Given the description of an element on the screen output the (x, y) to click on. 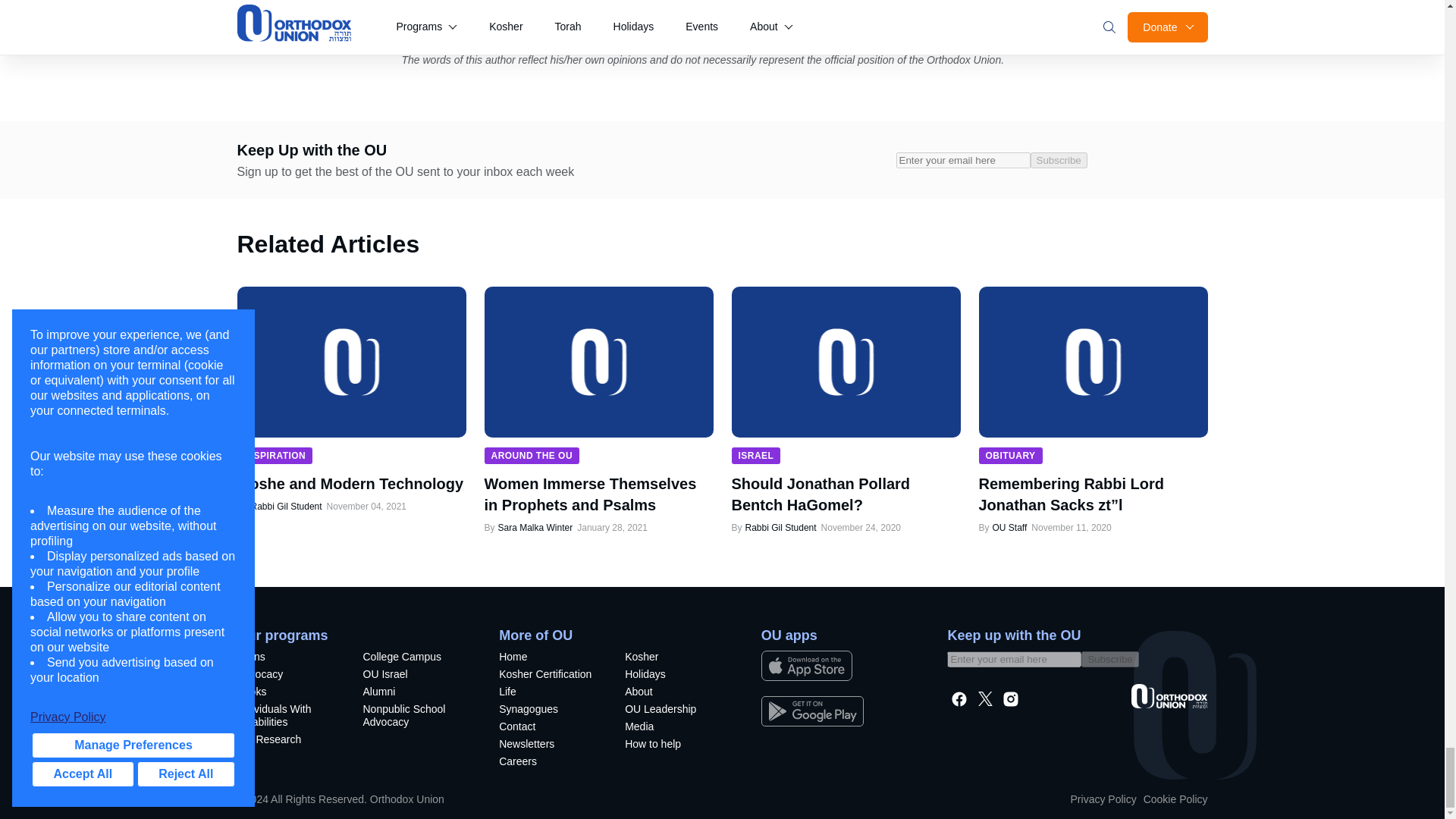
Posts by Rabbi Gil Student (780, 527)
teachcoalition (413, 717)
Posts by Rabbi Gil Student (284, 506)
OU Research (286, 741)
Posts by Sara Malka Winter (534, 527)
Posts by OU Staff (1009, 527)
How to get kosher certification (549, 675)
